Given the description of an element on the screen output the (x, y) to click on. 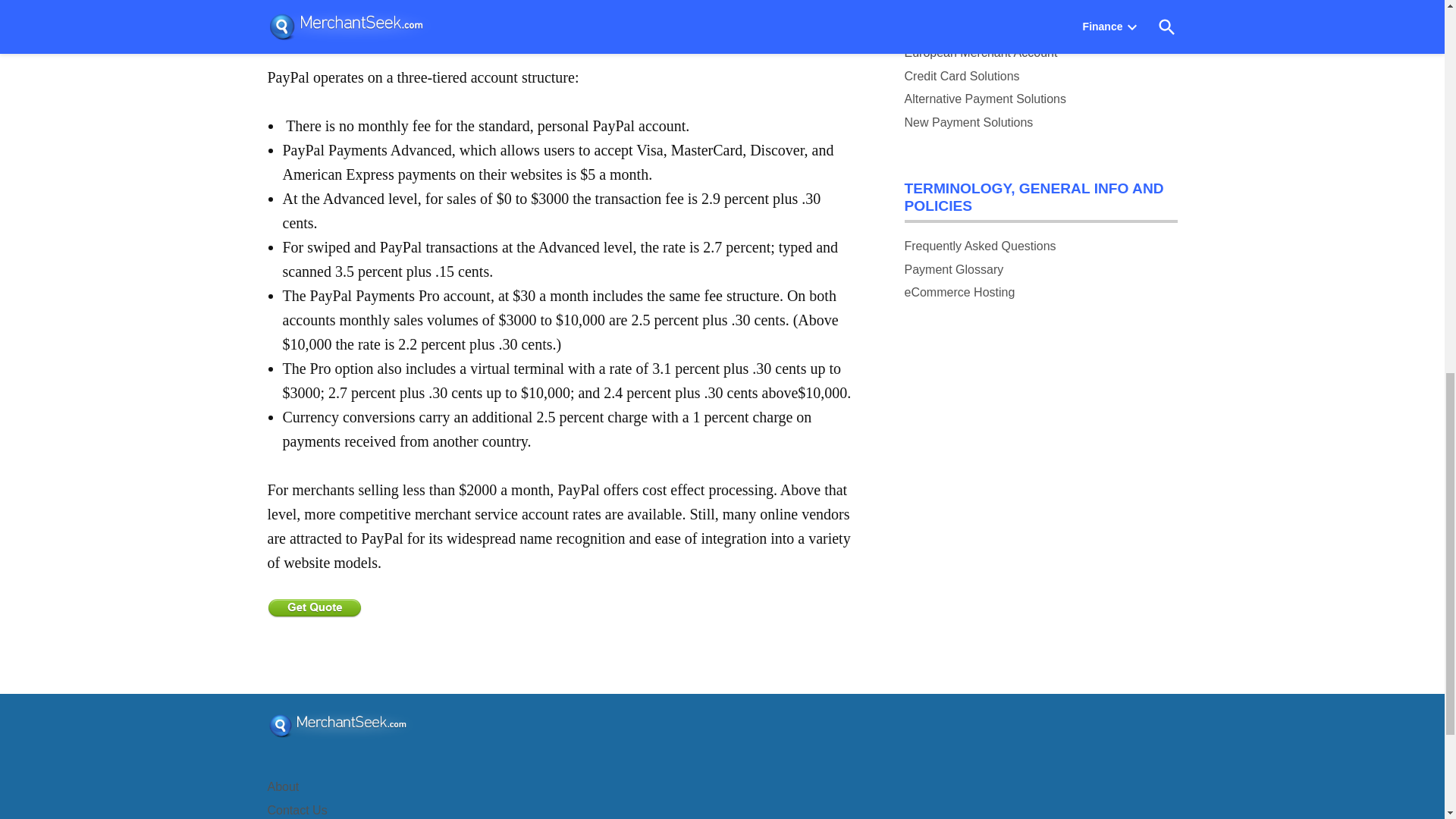
getquote (313, 608)
